Given the description of an element on the screen output the (x, y) to click on. 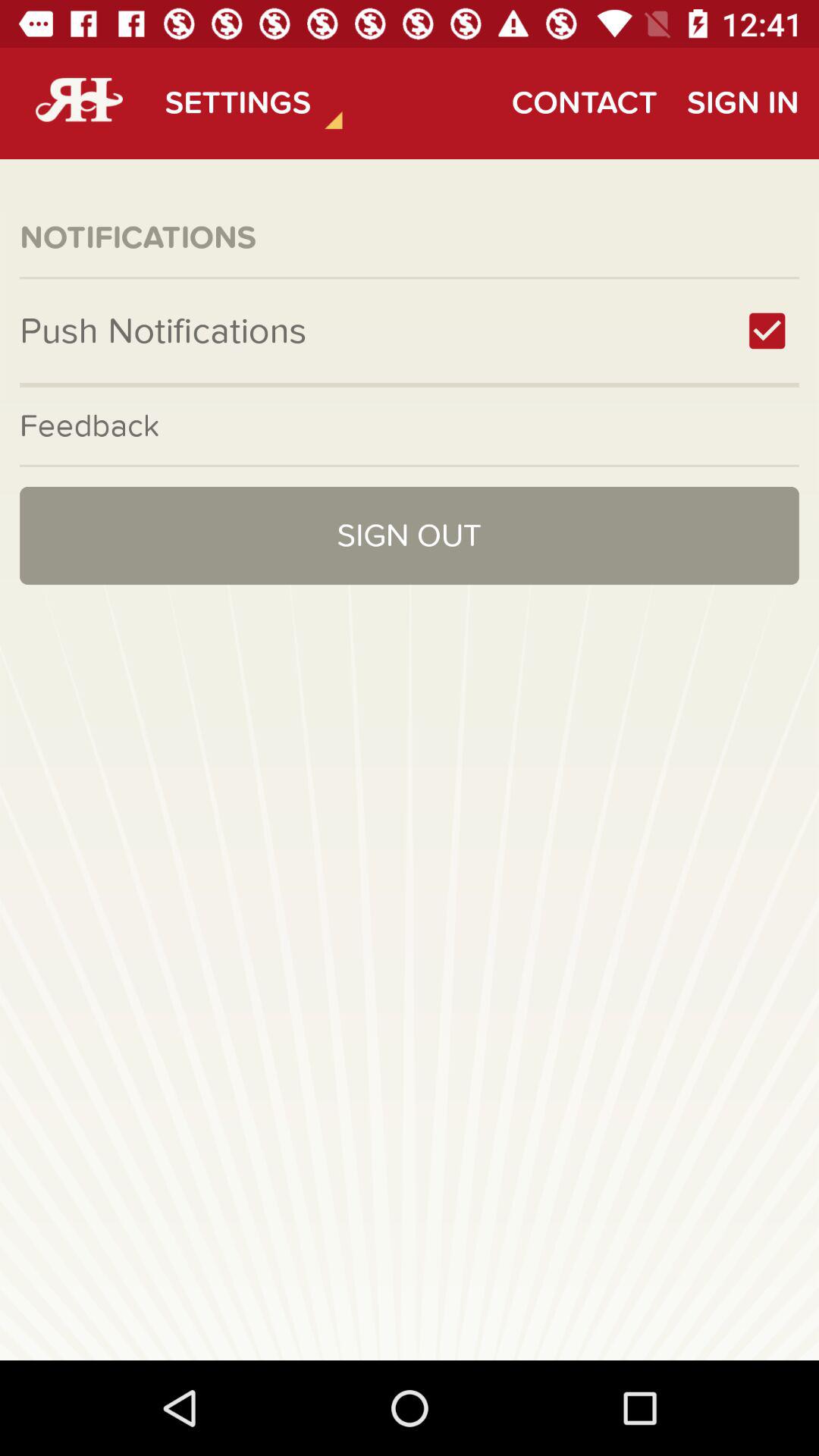
turn off item next to push notifications item (767, 330)
